Given the description of an element on the screen output the (x, y) to click on. 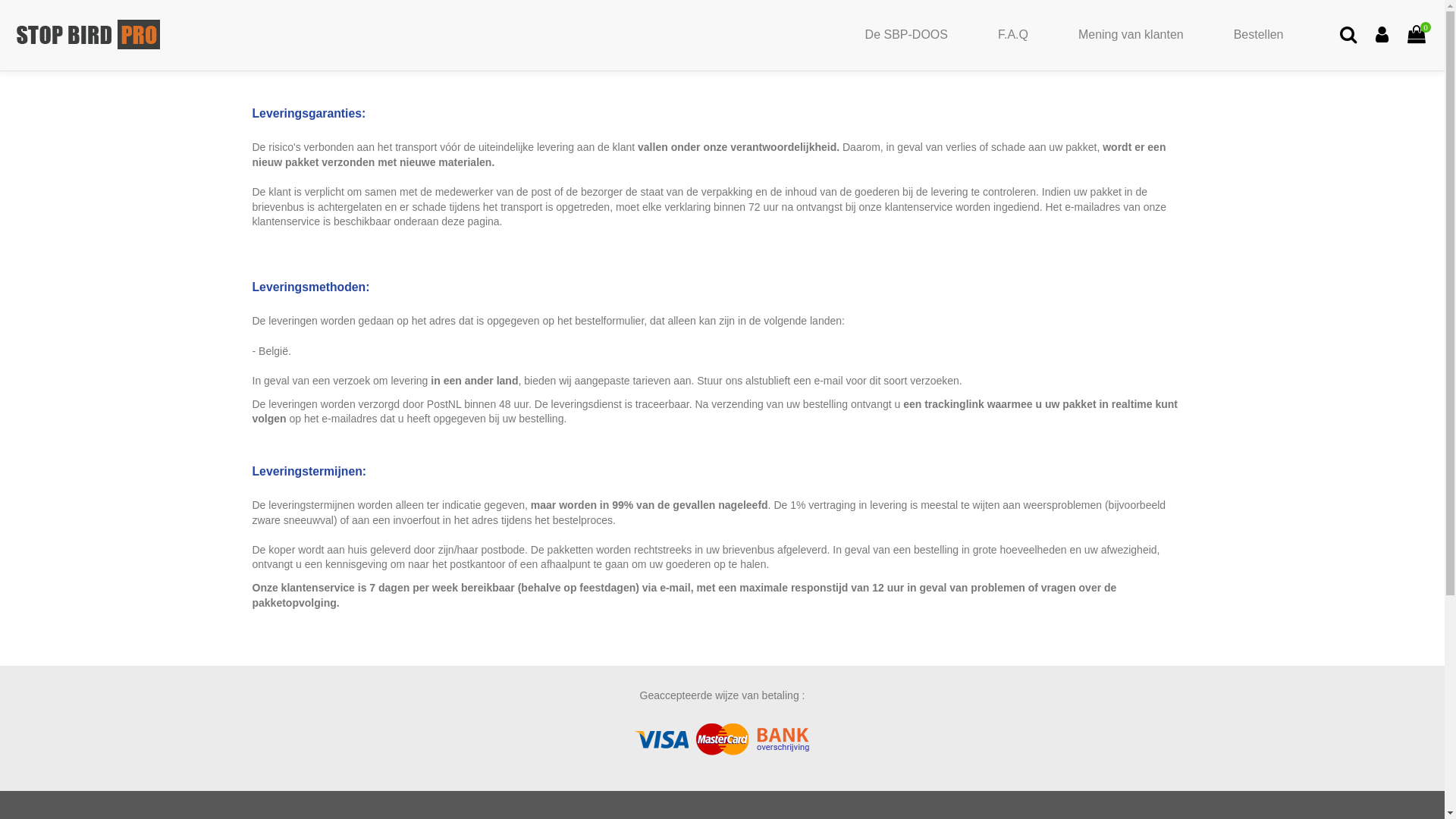
F.A.Q Element type: text (1012, 35)
Bestellen Element type: text (1258, 35)
0 Element type: text (1415, 35)
Mening van klanten Element type: text (1130, 35)
Aanloggen bij Uw klantenrekening Element type: hover (1381, 35)
De SBP-DOOS Element type: text (906, 35)
